Given the description of an element on the screen output the (x, y) to click on. 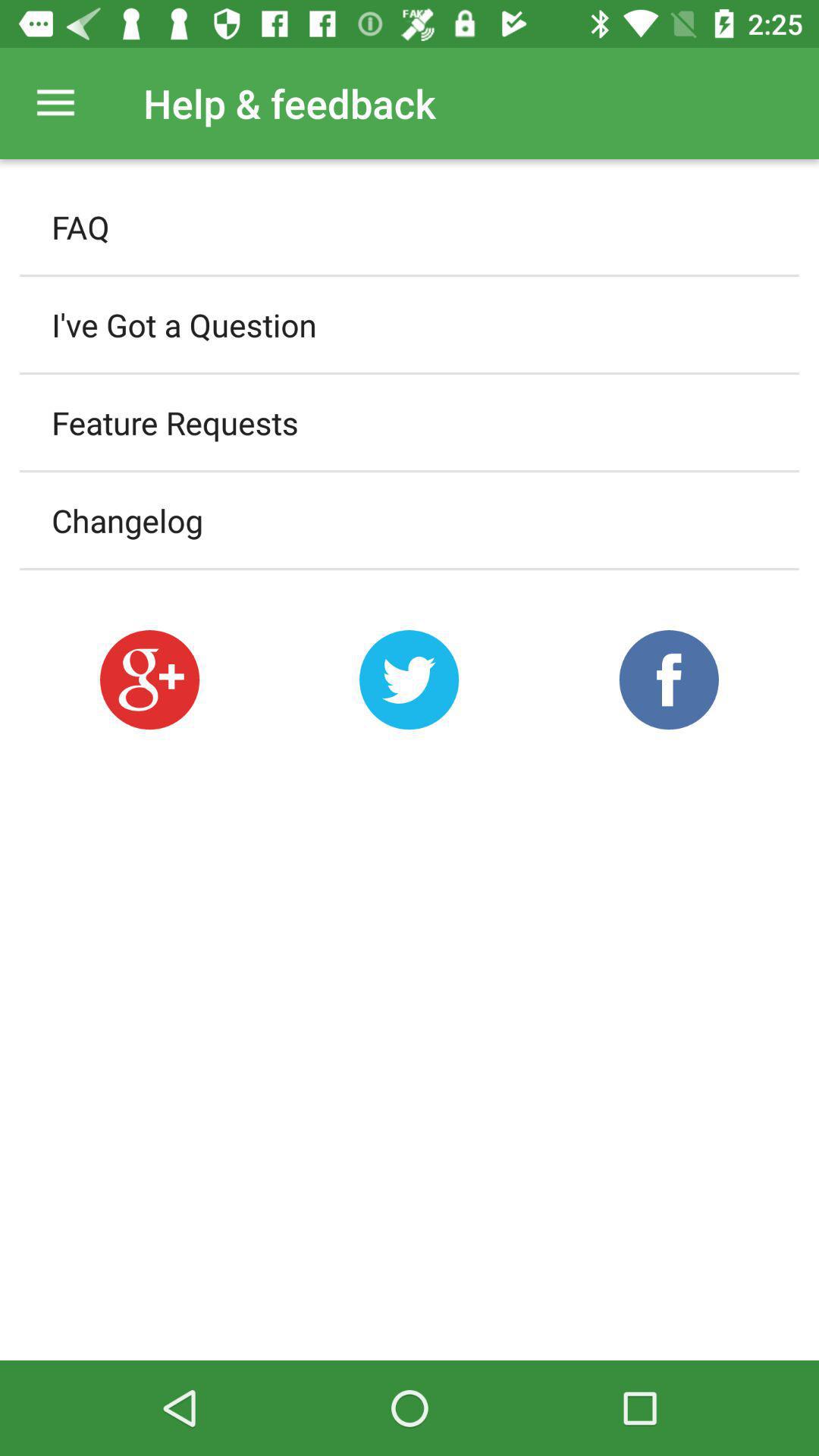
turn off the faq icon (409, 226)
